Given the description of an element on the screen output the (x, y) to click on. 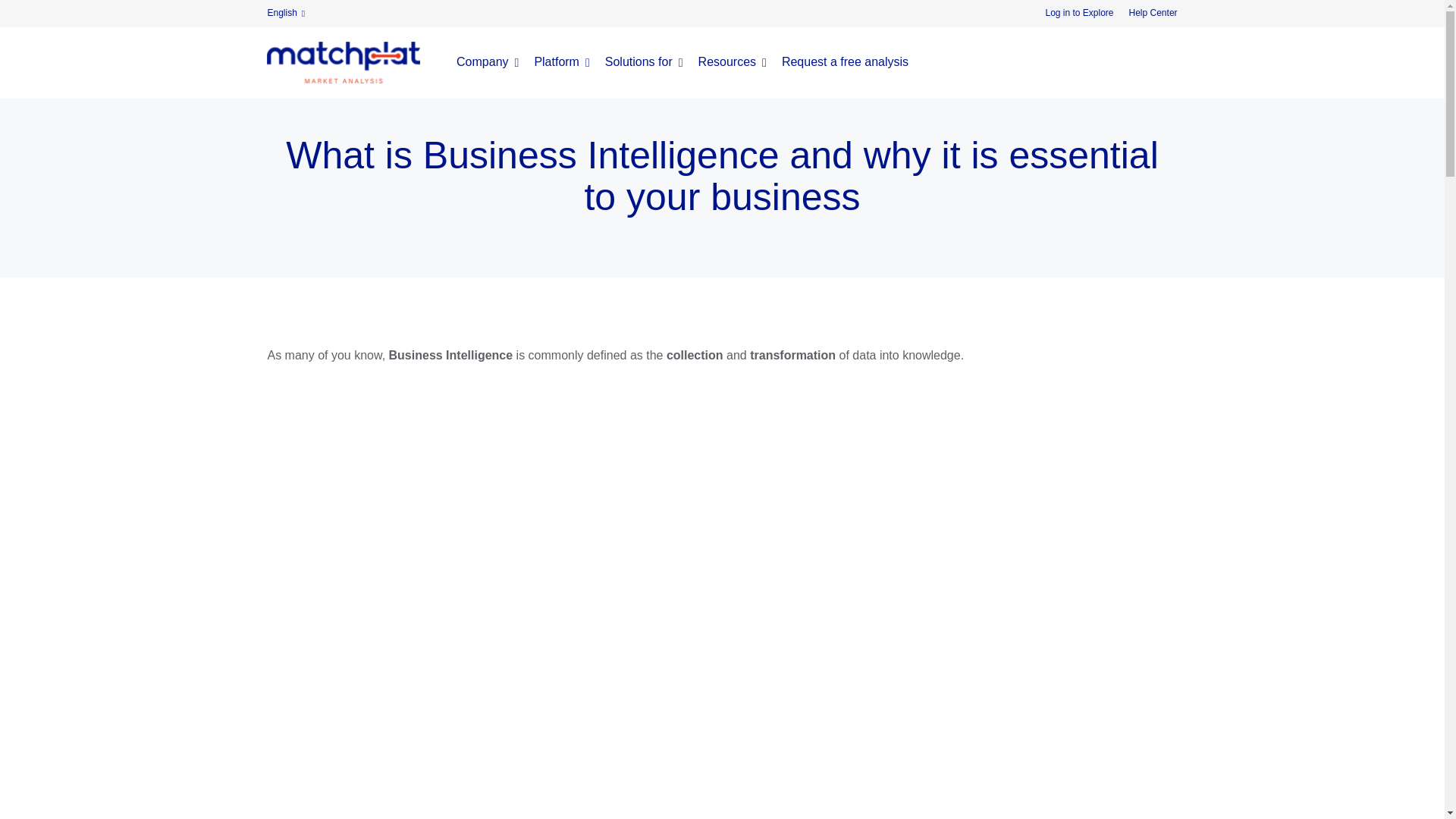
Help Center (1153, 13)
Log in to Explore (1079, 13)
Company (487, 62)
Solutions for (643, 62)
English (285, 13)
English (285, 13)
logo-matchplat (343, 61)
Platform (561, 62)
Resources (732, 62)
